Given the description of an element on the screen output the (x, y) to click on. 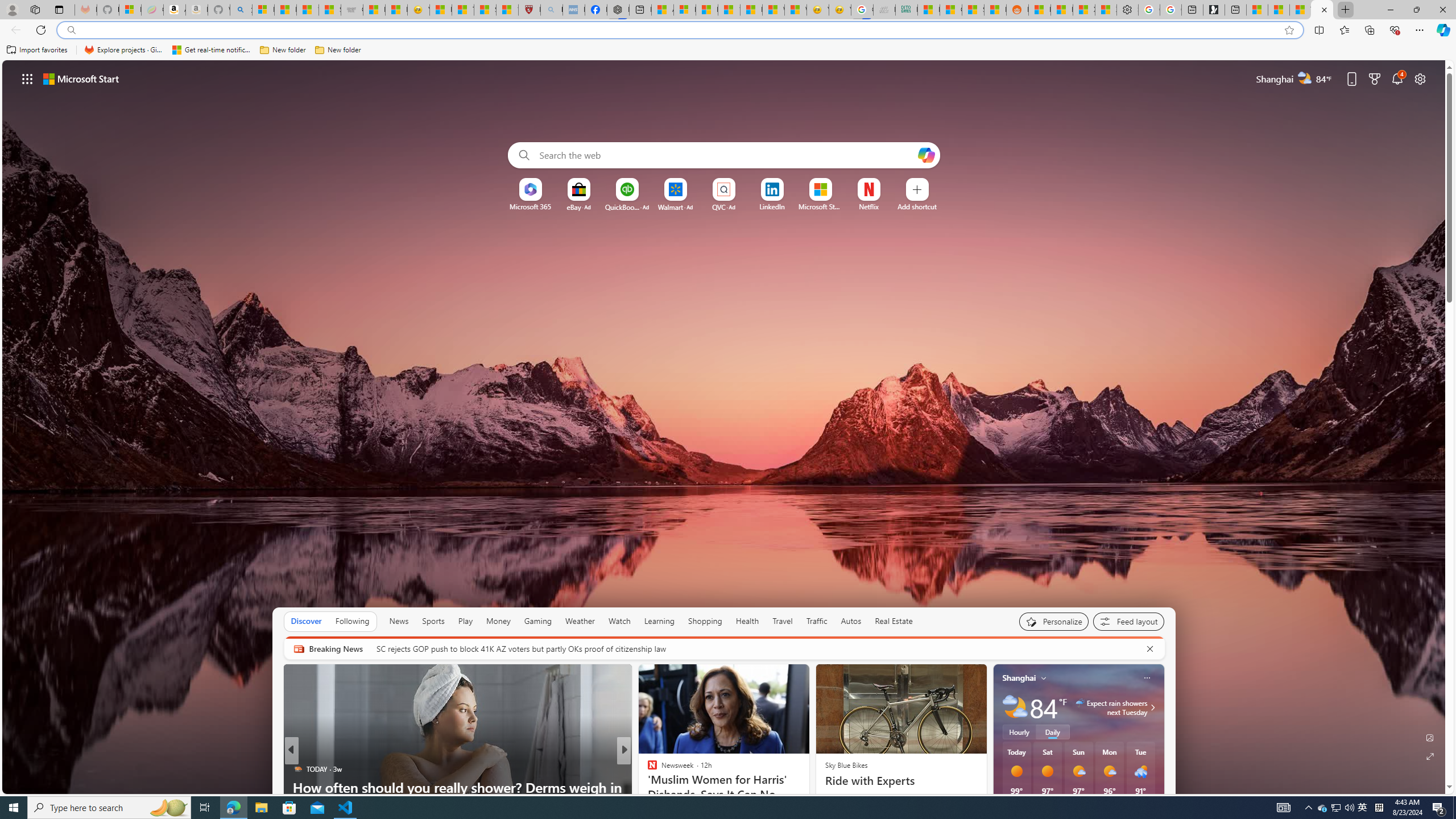
Learning (658, 621)
Feed settings (1128, 621)
Mostly sunny (1109, 771)
Gaming (537, 621)
Partly cloudy (1014, 707)
Strange vision problems may indicate Alzheimer's disease (807, 796)
Money Talks News (647, 768)
Robert H. Shmerling, MD - Harvard Health (529, 9)
Class: weather-arrow-glyph (1152, 707)
